Given the description of an element on the screen output the (x, y) to click on. 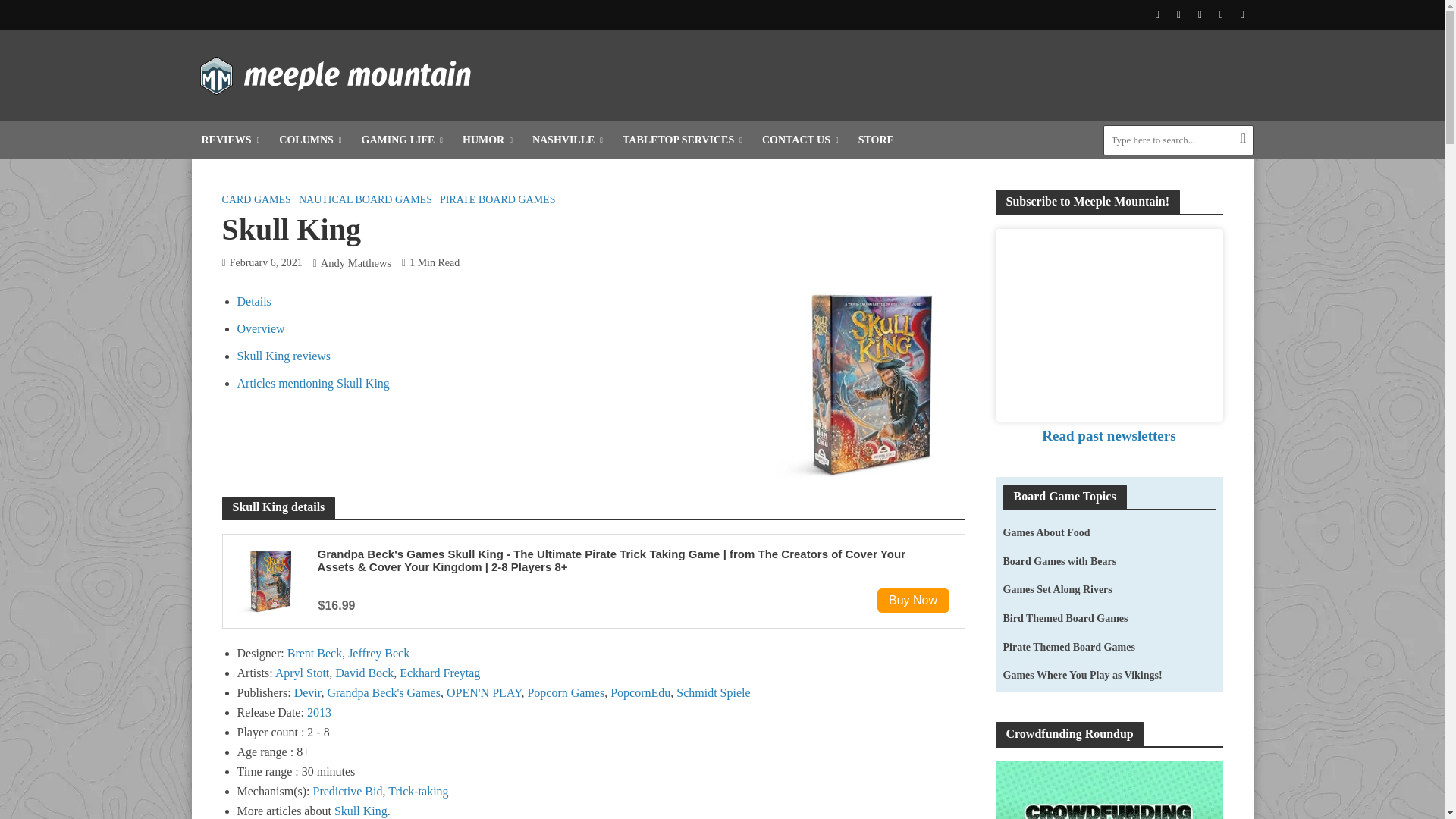
COLUMNS (309, 139)
HUMOR (487, 139)
Subscription form (1108, 325)
NASHVILLE (567, 139)
GAMING LIFE (402, 139)
REVIEWS (229, 139)
